Given the description of an element on the screen output the (x, y) to click on. 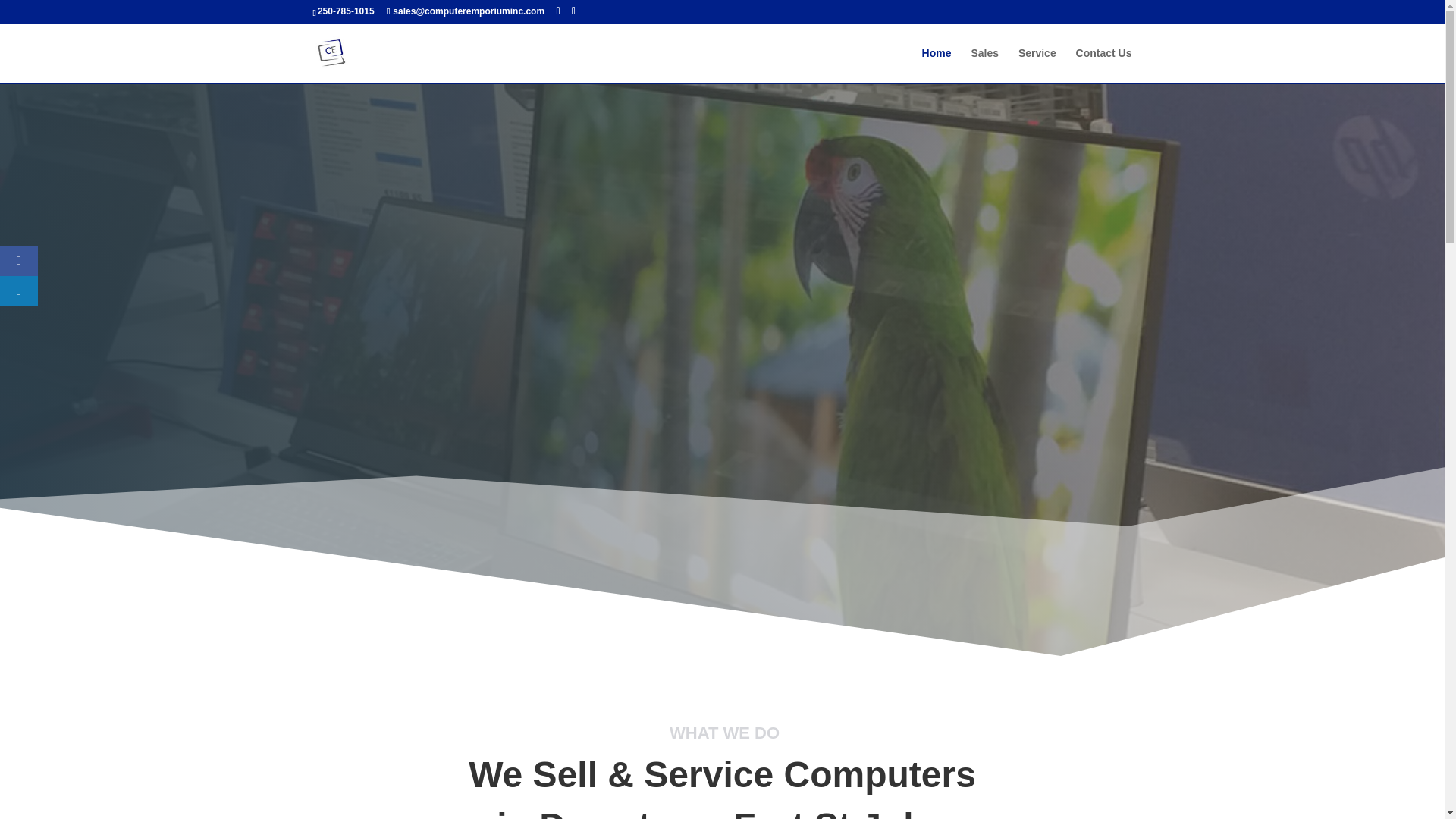
Service (1037, 65)
Contact Us (1103, 65)
